Given the description of an element on the screen output the (x, y) to click on. 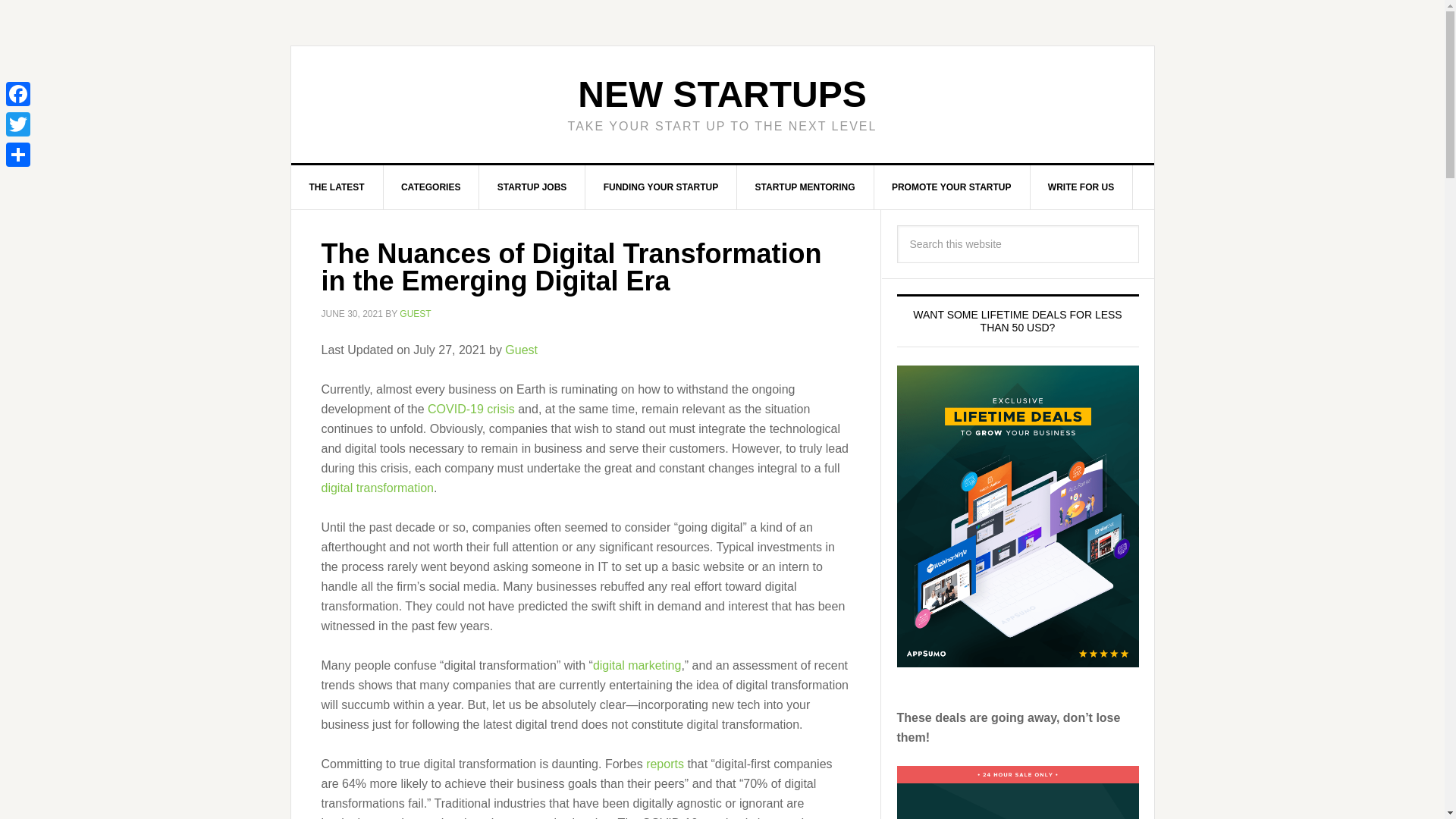
digital marketing (636, 664)
Guest (521, 349)
CATEGORIES (430, 187)
STARTUP MENTORING (805, 187)
Facebook (17, 93)
WRITE FOR US (1080, 187)
PROMOTE YOUR STARTUP (951, 187)
THE LATEST (337, 187)
reports (665, 762)
FUNDING YOUR STARTUP (661, 187)
digital transformation (377, 486)
Twitter (17, 123)
How to Make Digital Marketing Easier (636, 664)
GUEST (414, 313)
